Given the description of an element on the screen output the (x, y) to click on. 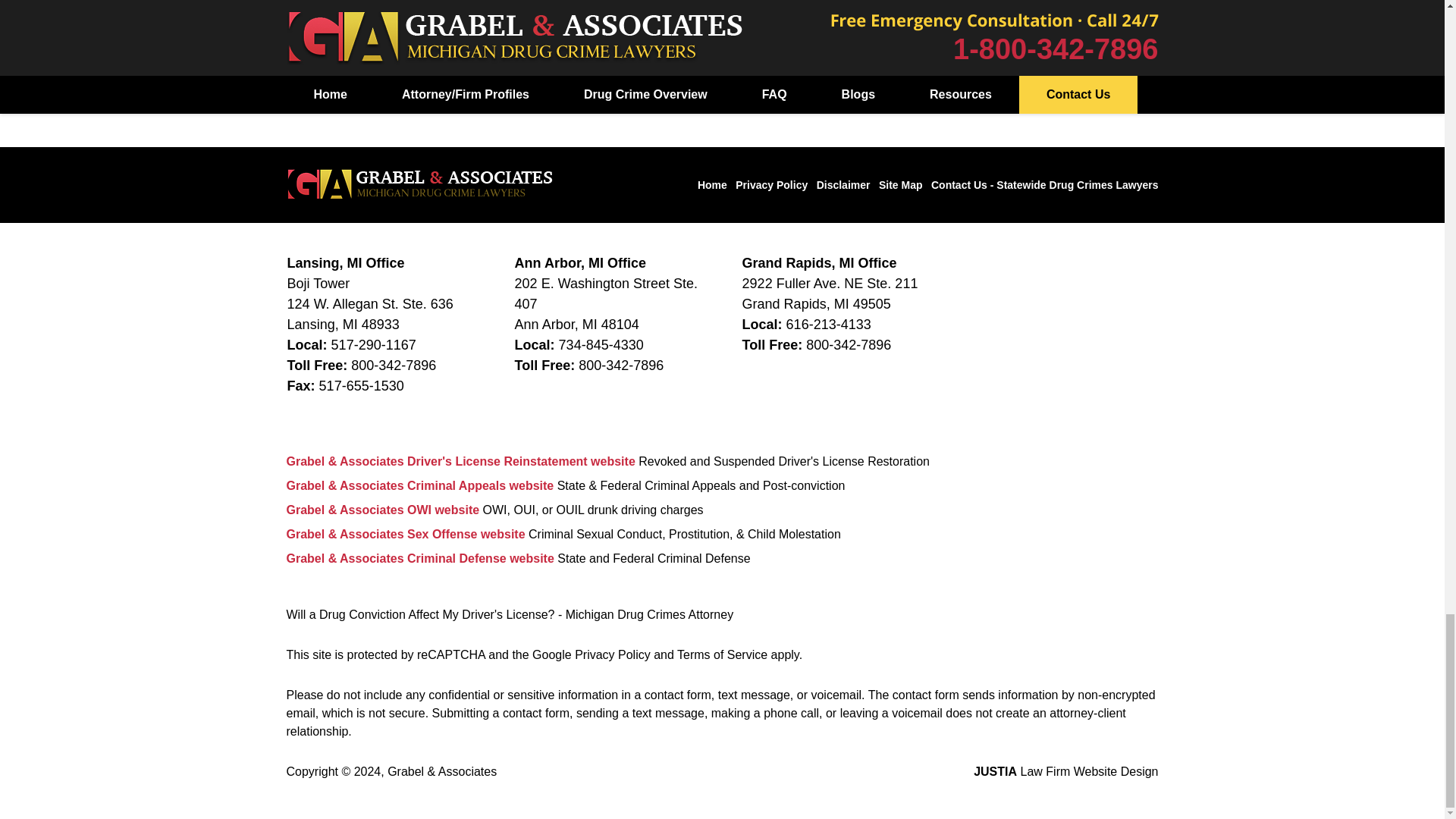
Facebook (1004, 12)
Twitter (1046, 12)
LinkedIn (1088, 12)
YouTube (1004, 56)
Justia (1130, 12)
